Given the description of an element on the screen output the (x, y) to click on. 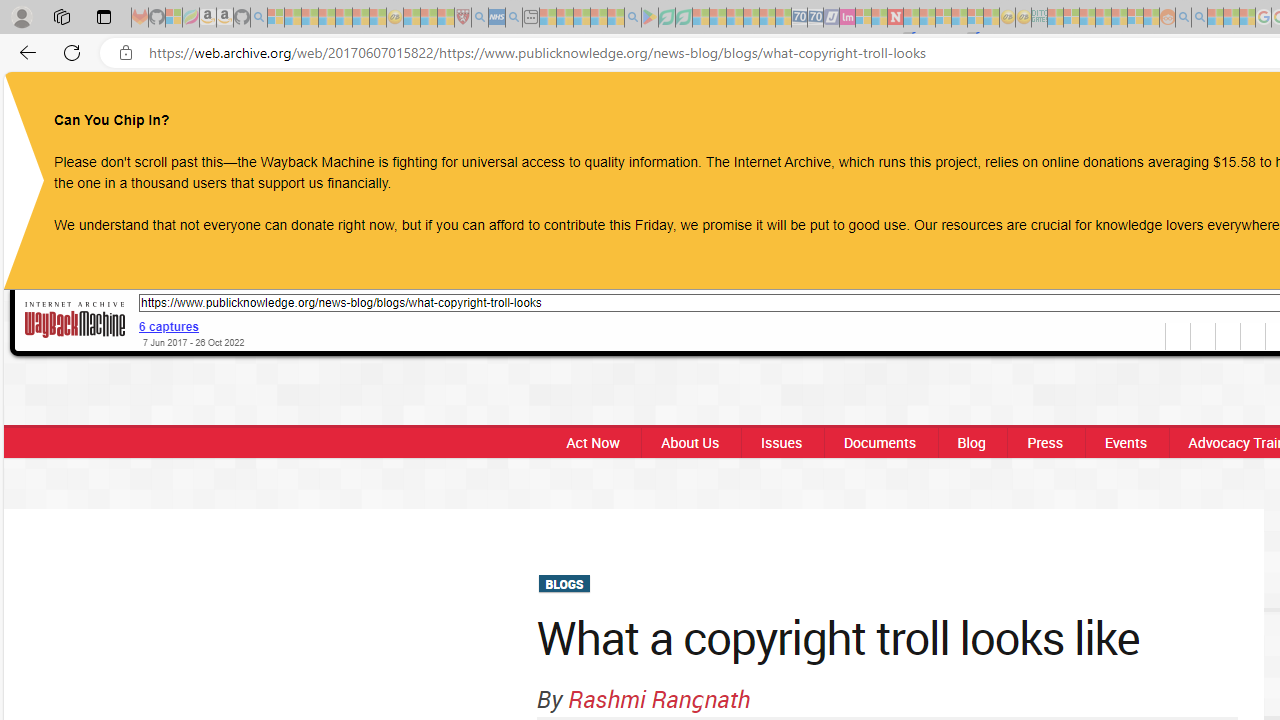
Kinda Frugal - MSN - Sleeping (1119, 17)
Press (1044, 442)
BLOGS (563, 584)
TWITTER (1218, 108)
Terms of Use Agreement - Sleeping (666, 17)
Latest Politics News & Archive | Newsweek.com - Sleeping (895, 17)
utah sues federal government - Search - Sleeping (513, 17)
